Given the description of an element on the screen output the (x, y) to click on. 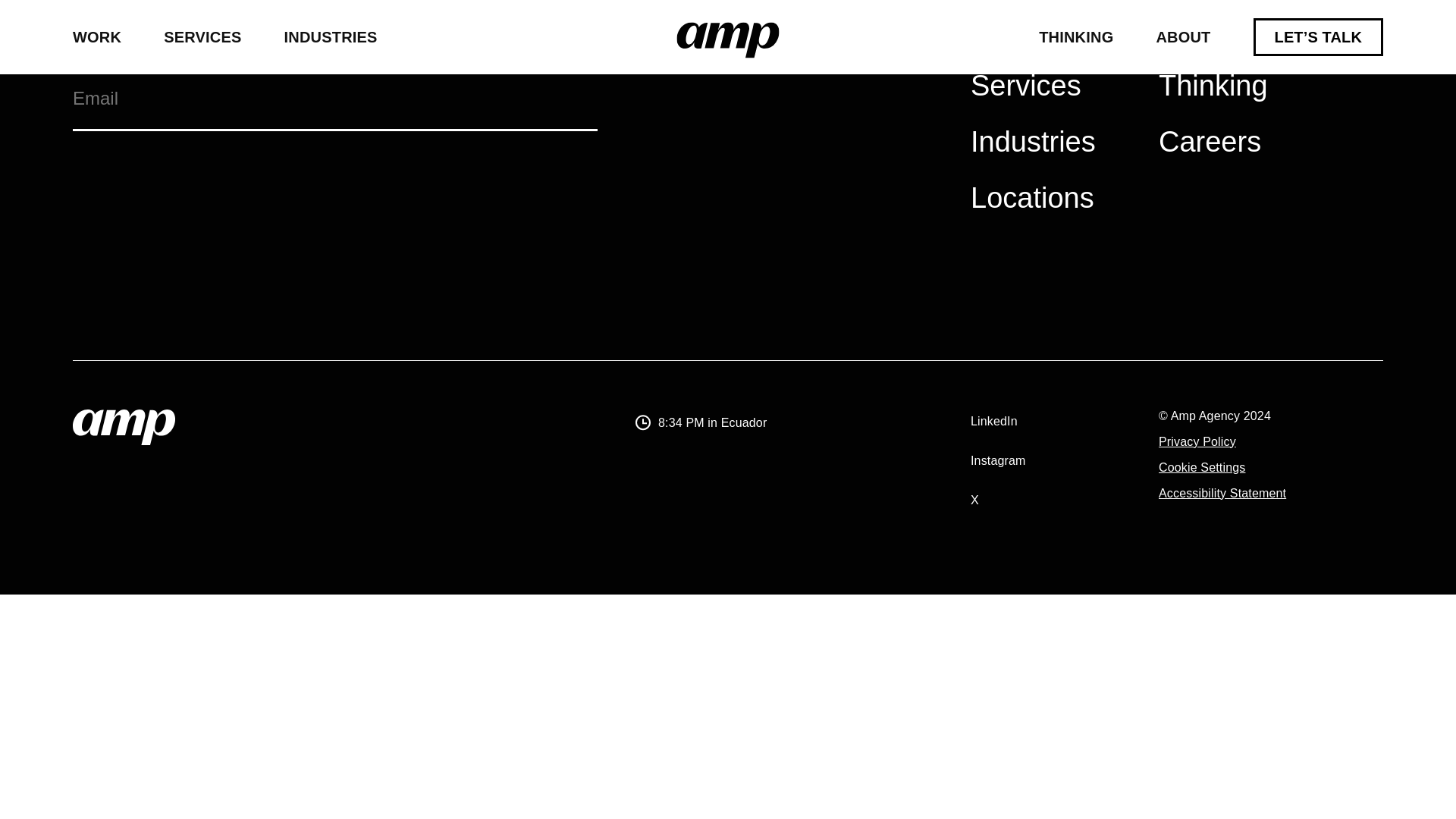
Amp Agency Logo (123, 427)
